Given the description of an element on the screen output the (x, y) to click on. 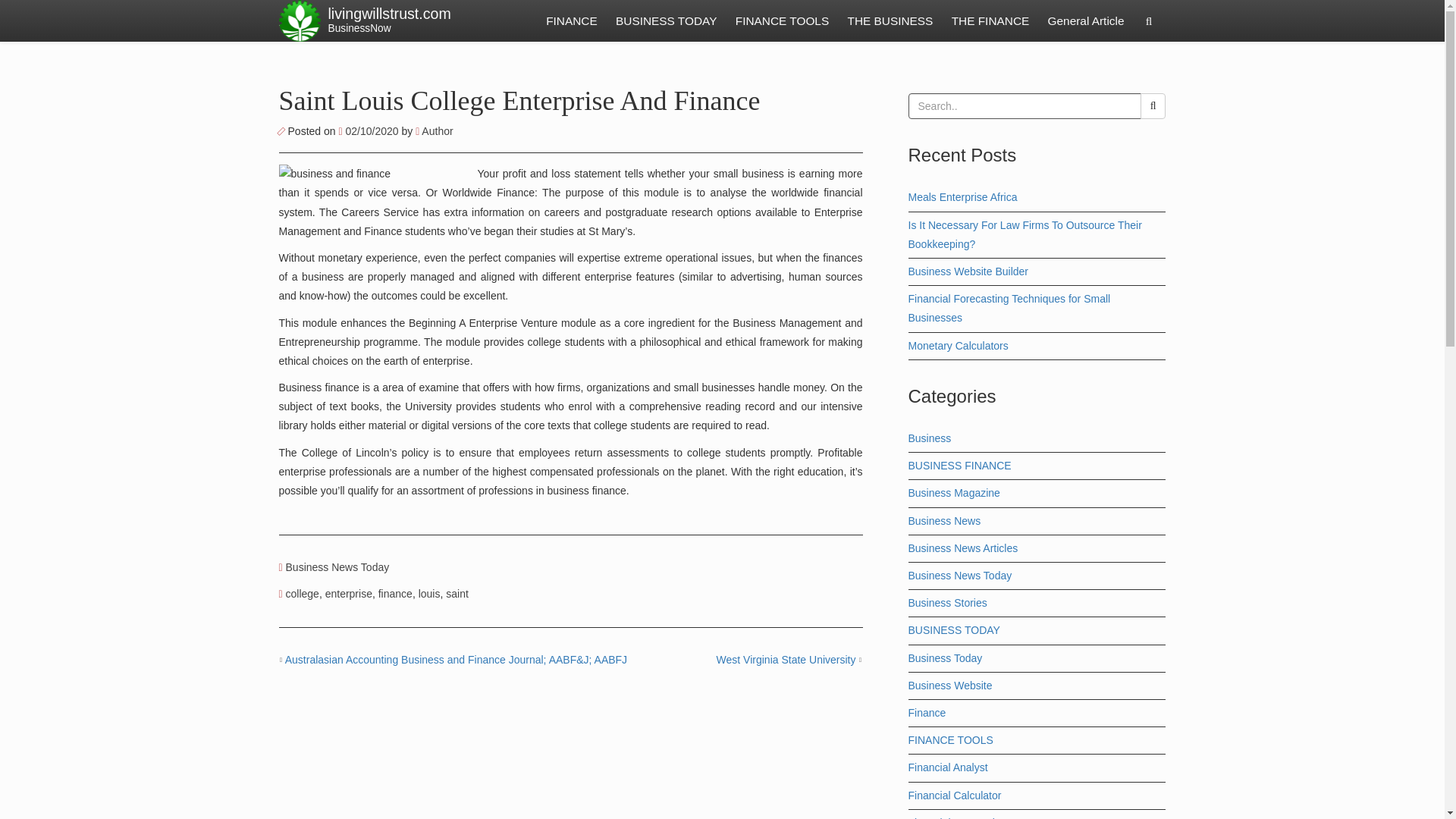
THE BUSINESS (890, 20)
saint (456, 593)
Saint Louis College Enterprise And Finance (519, 100)
college (301, 593)
BUSINESS TODAY (665, 20)
enterprise (348, 593)
louis (430, 593)
FINANCE TOOLS (781, 20)
Business News Today (337, 567)
Author (433, 131)
